Given the description of an element on the screen output the (x, y) to click on. 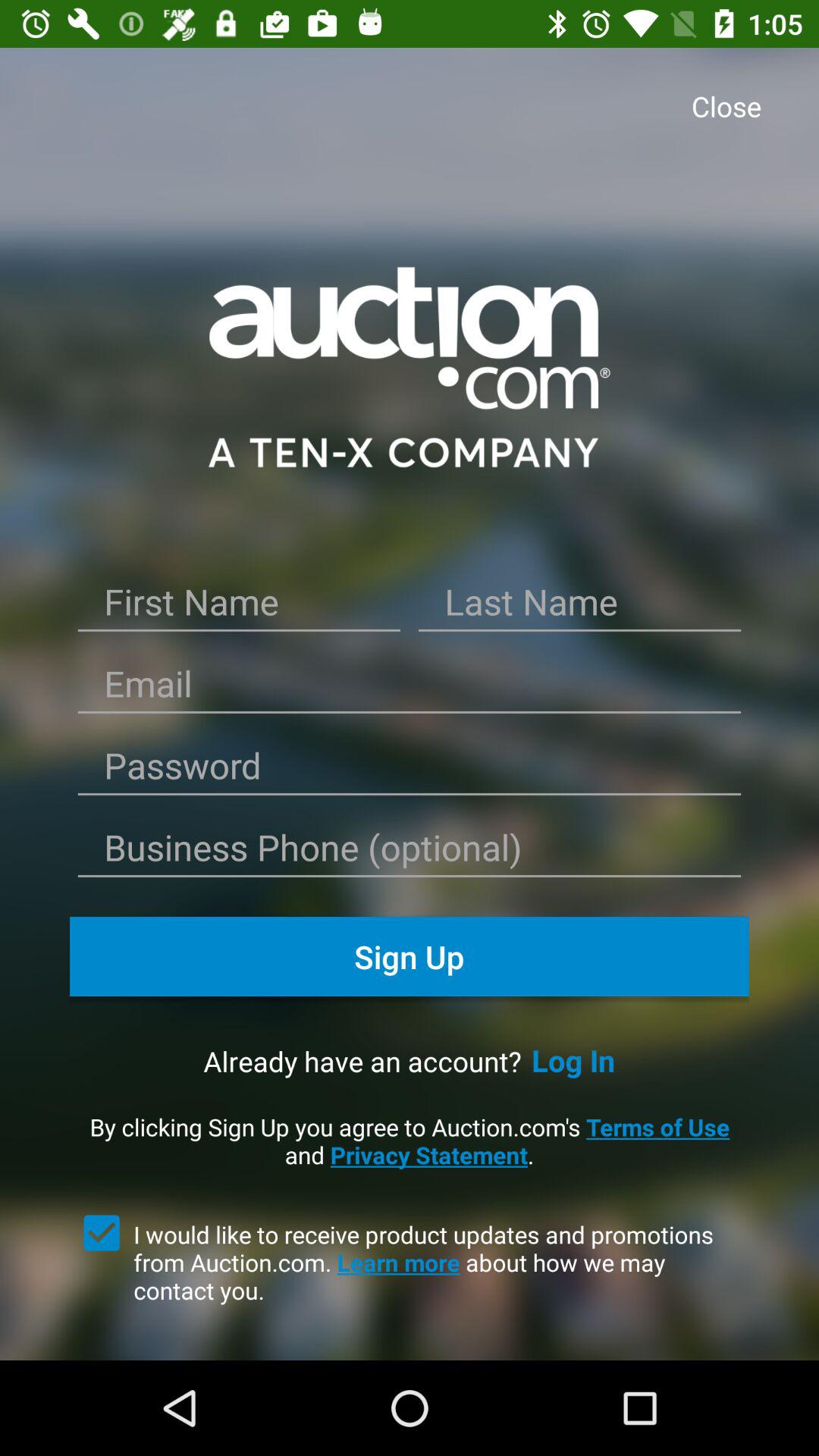
launch icon above by clicking sign (573, 1060)
